Given the description of an element on the screen output the (x, y) to click on. 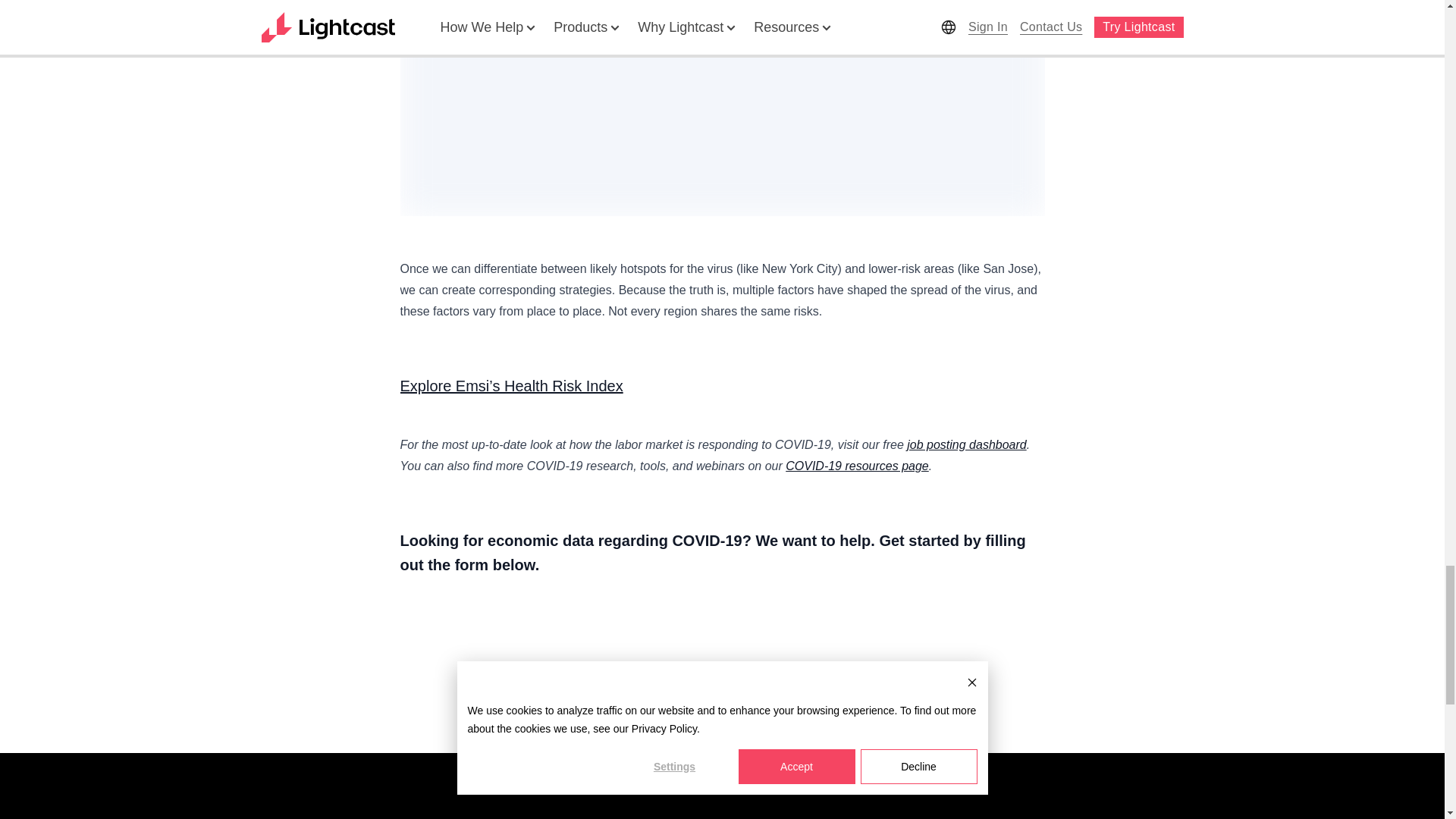
COVID-19 resources page (857, 465)
job posting dashboard (966, 444)
